Given the description of an element on the screen output the (x, y) to click on. 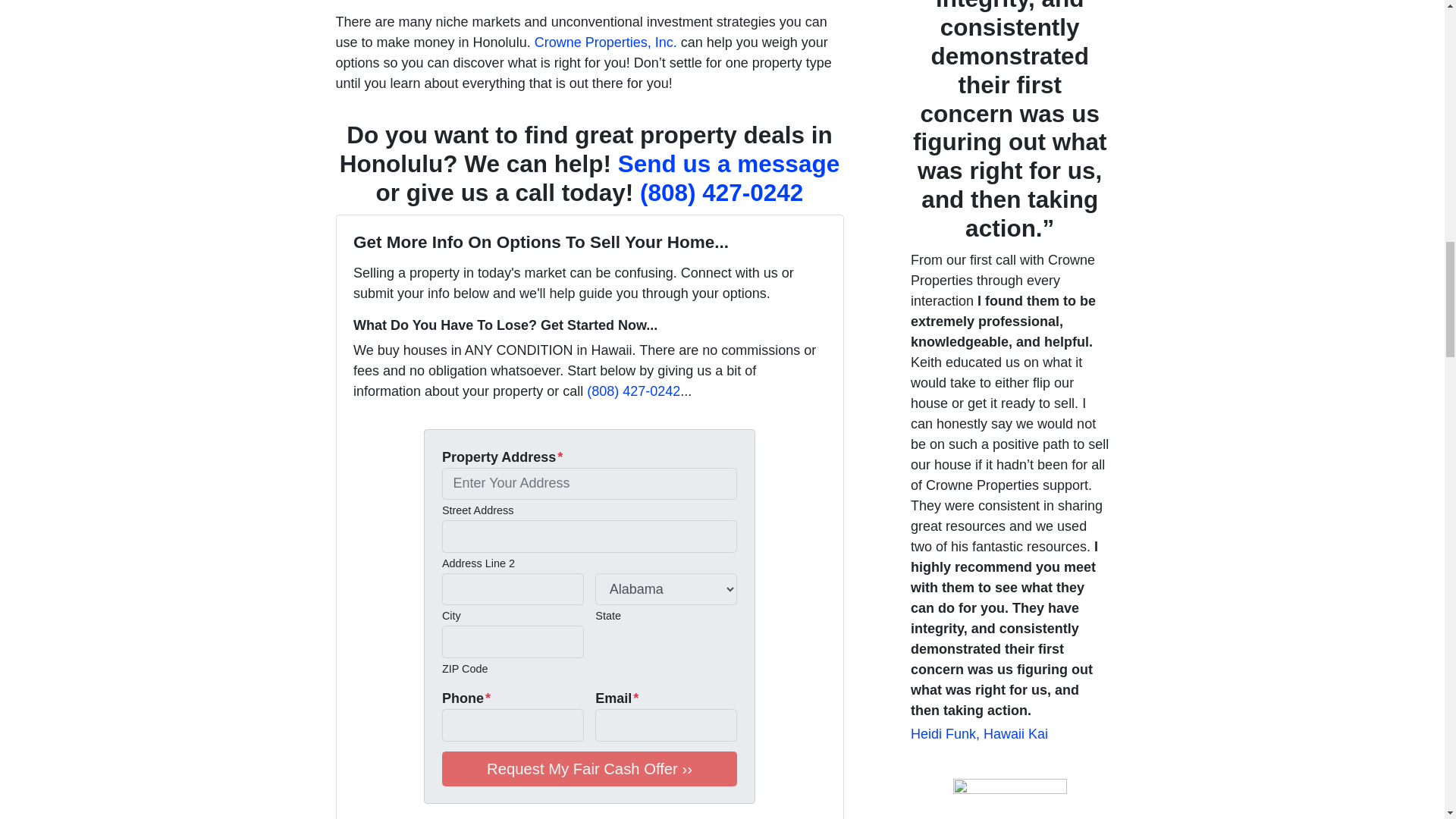
Crowne Properties, Inc. (605, 42)
Heidi Funk, Hawaii Kai (979, 734)
Send us a message (728, 163)
